Given the description of an element on the screen output the (x, y) to click on. 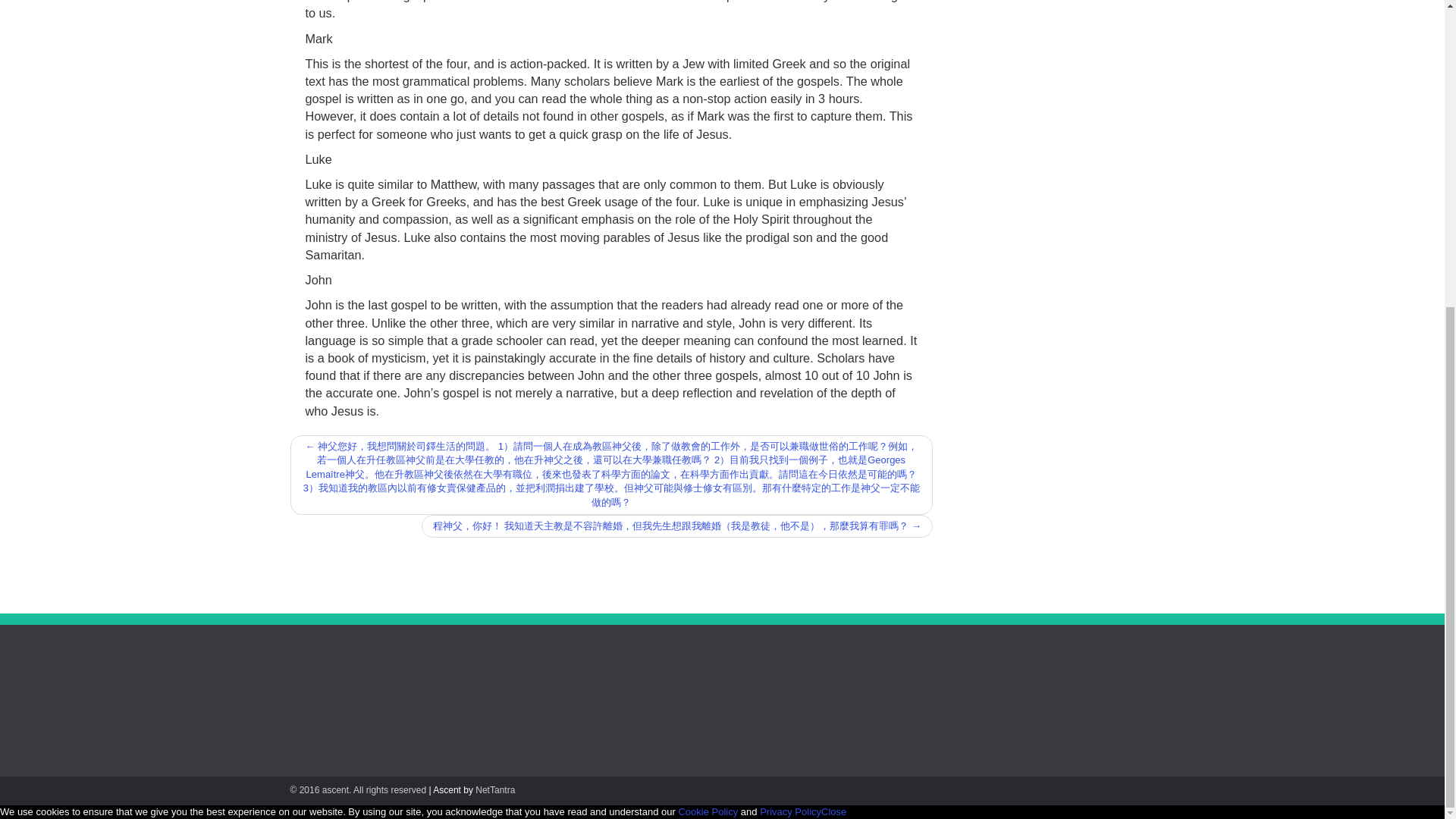
Privacy Policy (790, 811)
Close (833, 811)
NetTantra (495, 789)
A Semantic Personal Publishing Platform (357, 789)
Cookie Policy (708, 811)
